Given the description of an element on the screen output the (x, y) to click on. 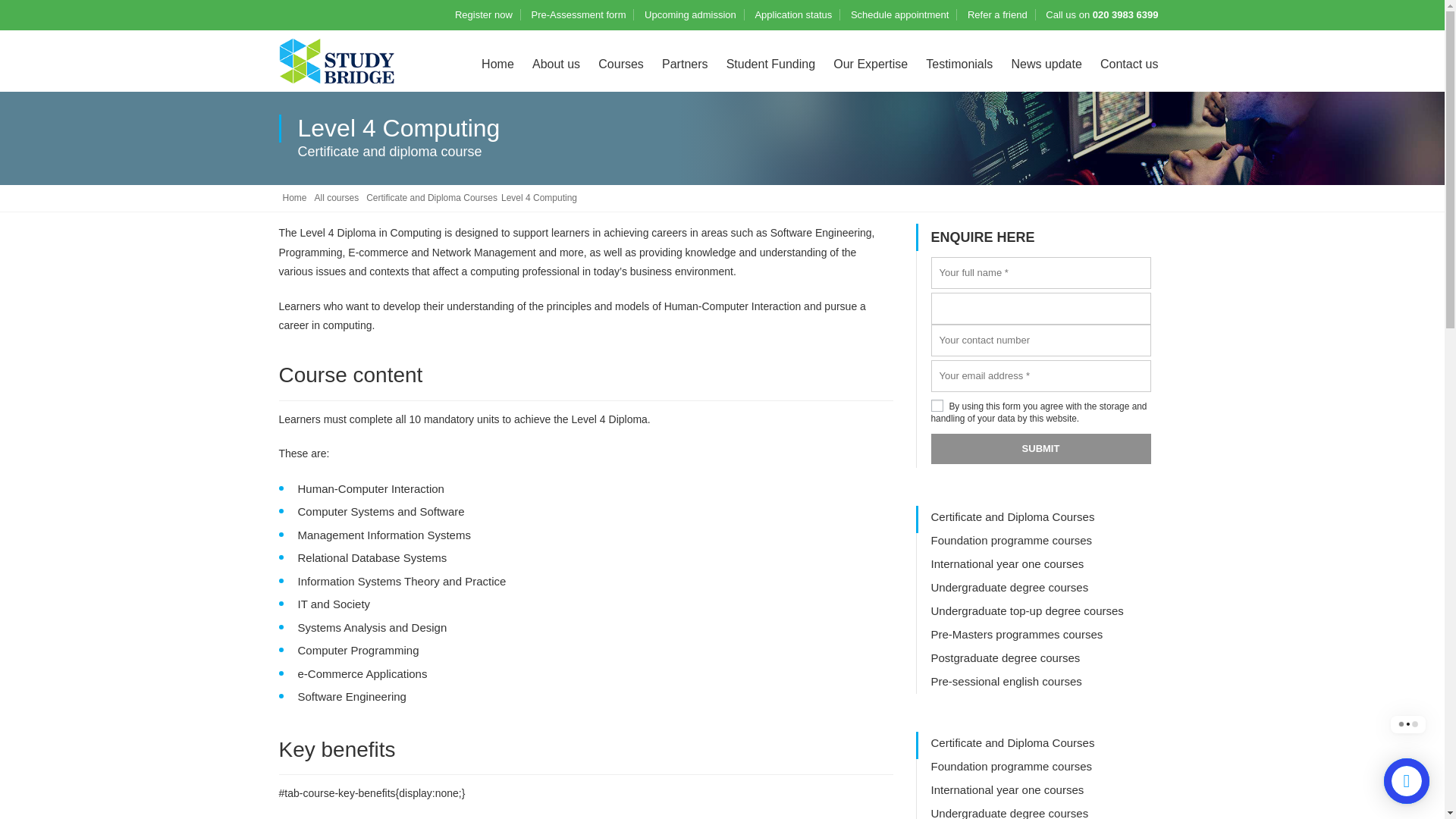
Home (293, 198)
Application status (792, 14)
All courses (336, 198)
Certificate and Diploma Courses (431, 198)
1 (937, 405)
Courses (620, 64)
Partners (683, 64)
Refer a friend (997, 14)
Level 4 Computing (538, 197)
News update (1046, 64)
